Given the description of an element on the screen output the (x, y) to click on. 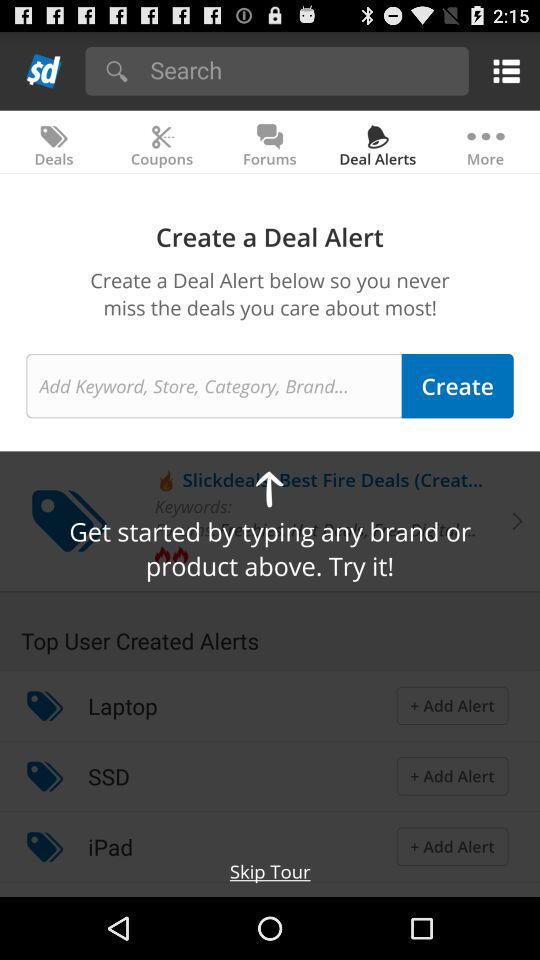
turn off the icon to the left of laptop icon (44, 705)
